Given the description of an element on the screen output the (x, y) to click on. 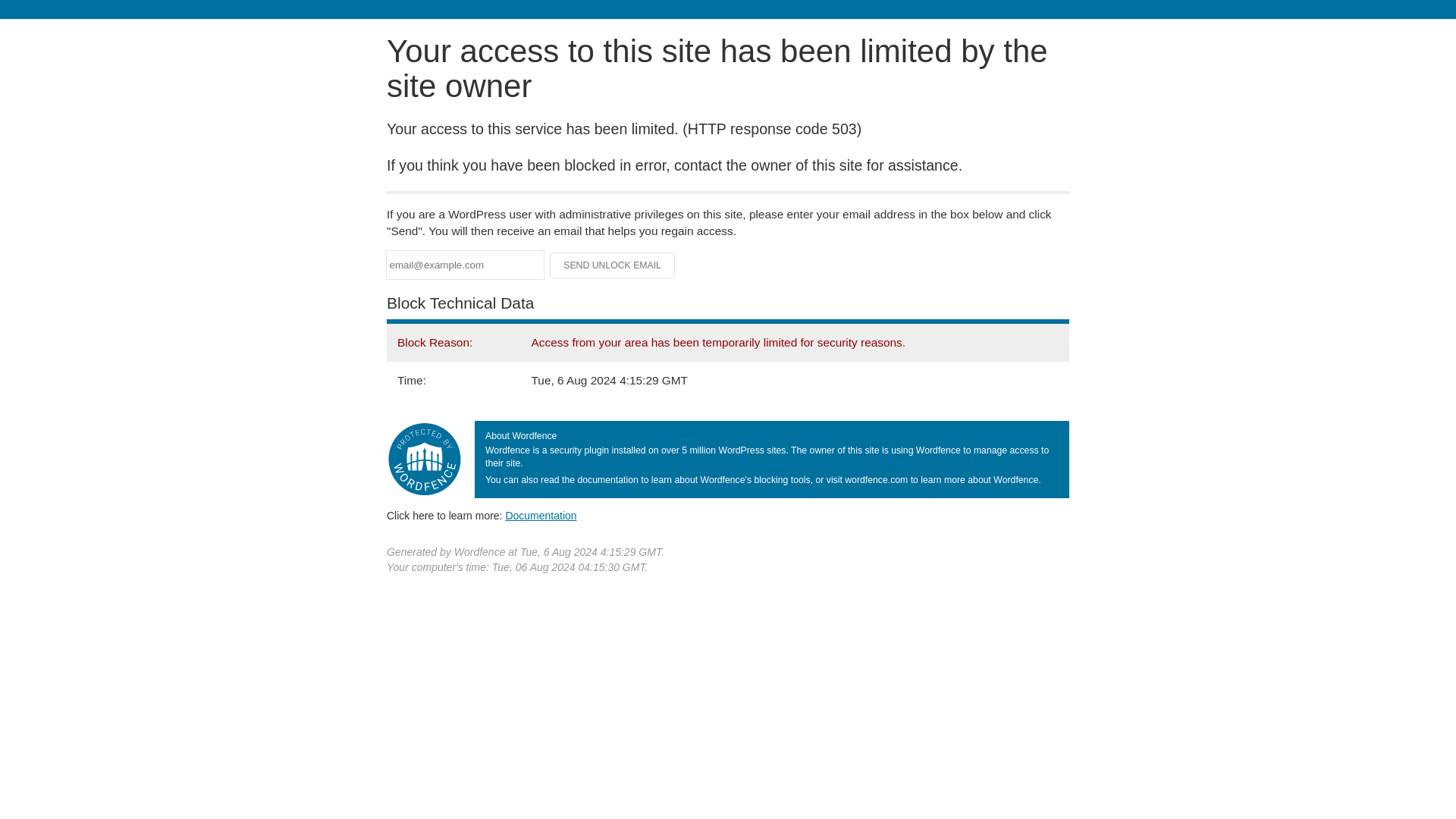
Send Unlock Email (612, 265)
Send Unlock Email (612, 265)
Documentation (540, 515)
